Given the description of an element on the screen output the (x, y) to click on. 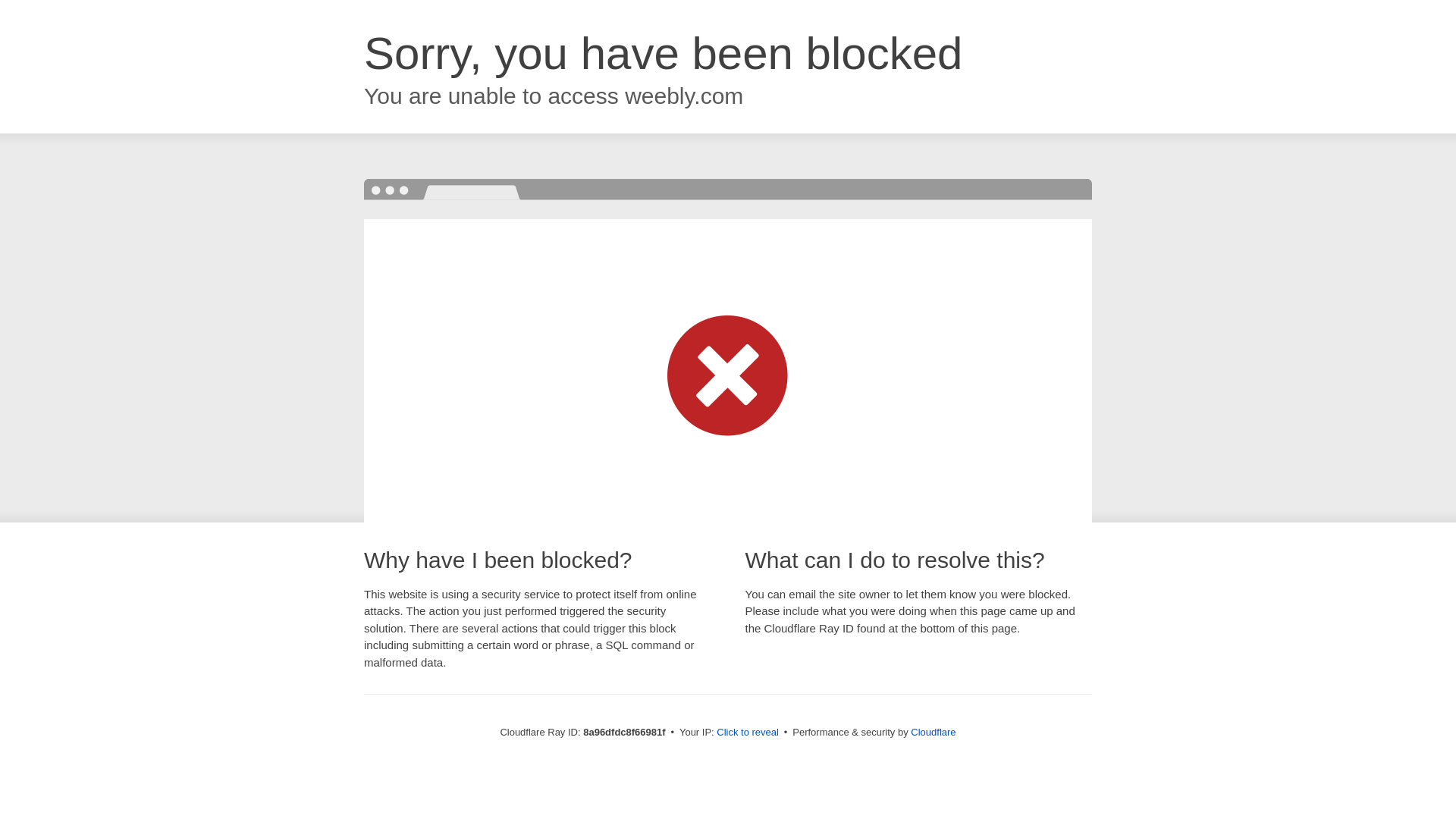
Cloudflare (933, 731)
Click to reveal (747, 732)
